Given the description of an element on the screen output the (x, y) to click on. 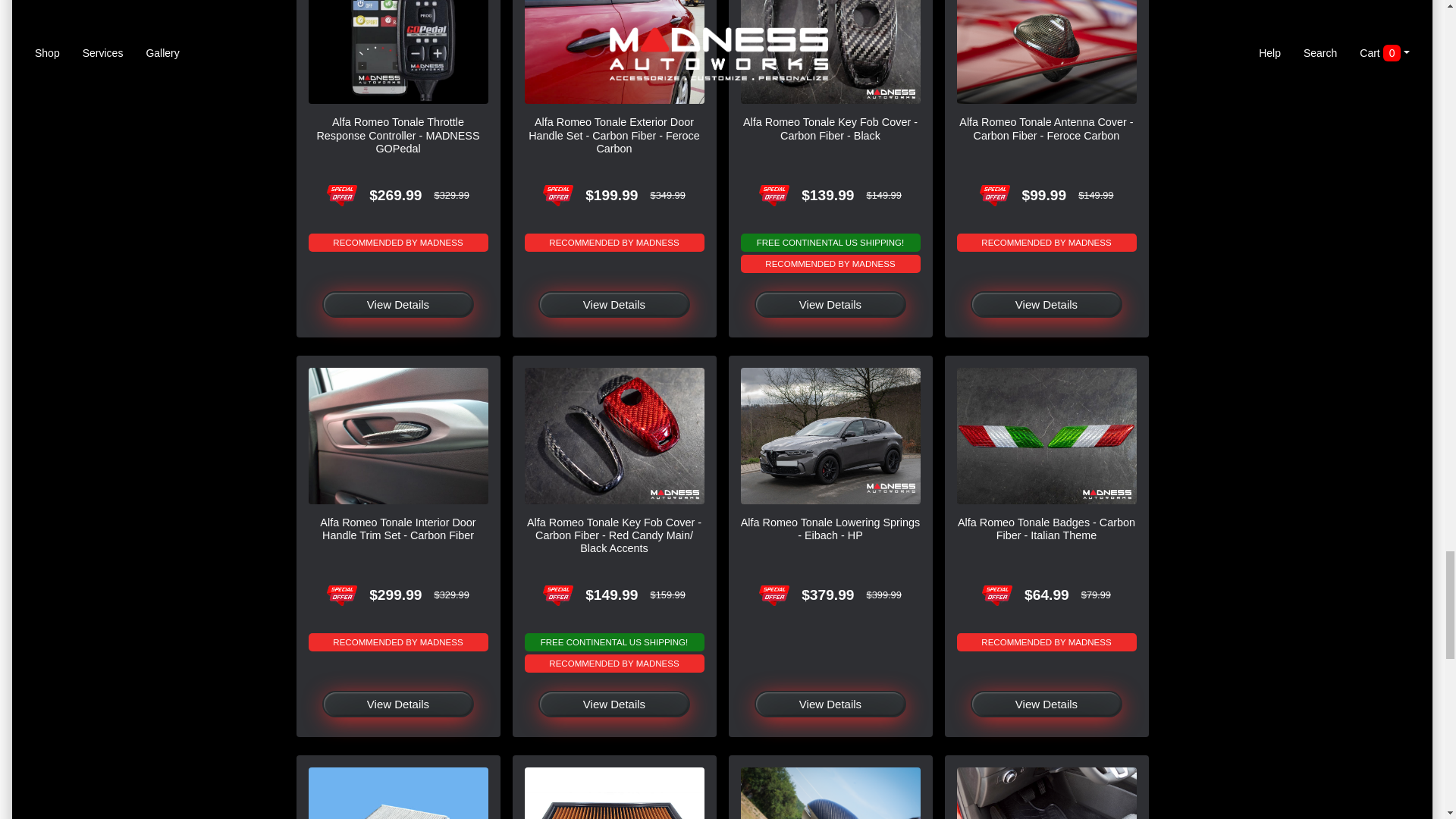
Alfa Romeo Tonale Key Fob Cover  - Carbon Fiber - Black (829, 52)
